Given the description of an element on the screen output the (x, y) to click on. 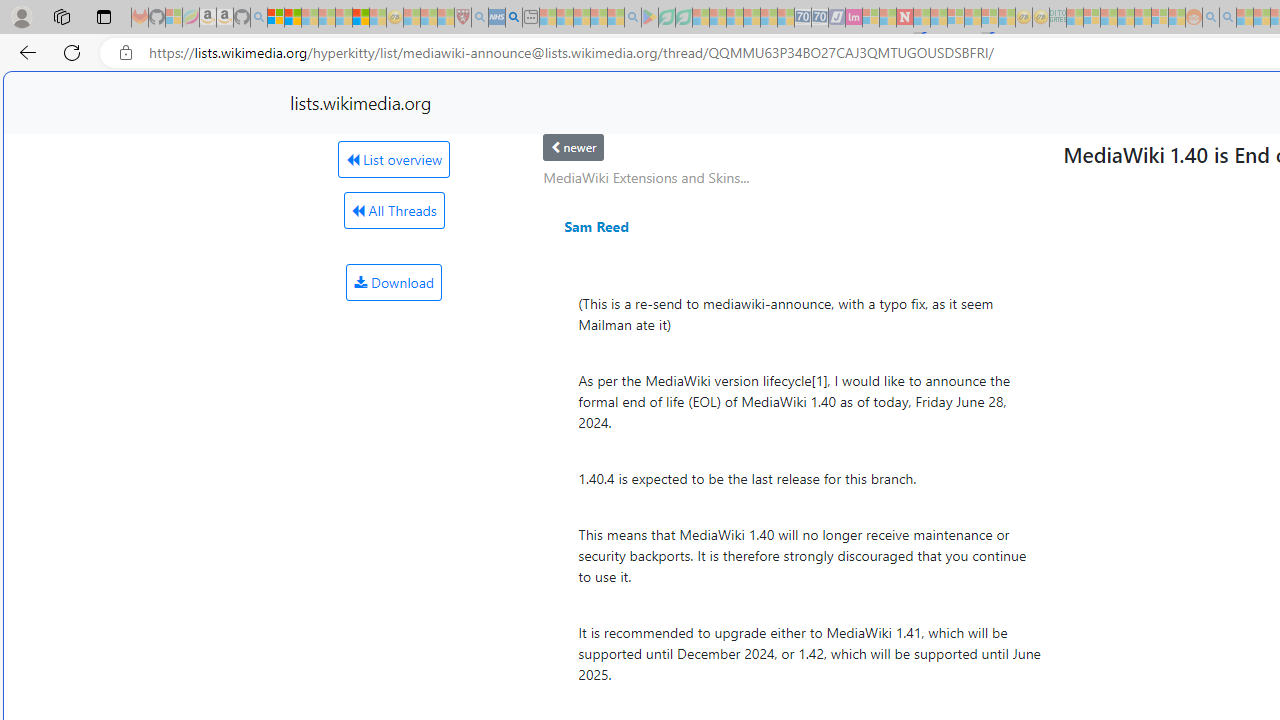
utah sues federal government - Search (513, 17)
